Given the description of an element on the screen output the (x, y) to click on. 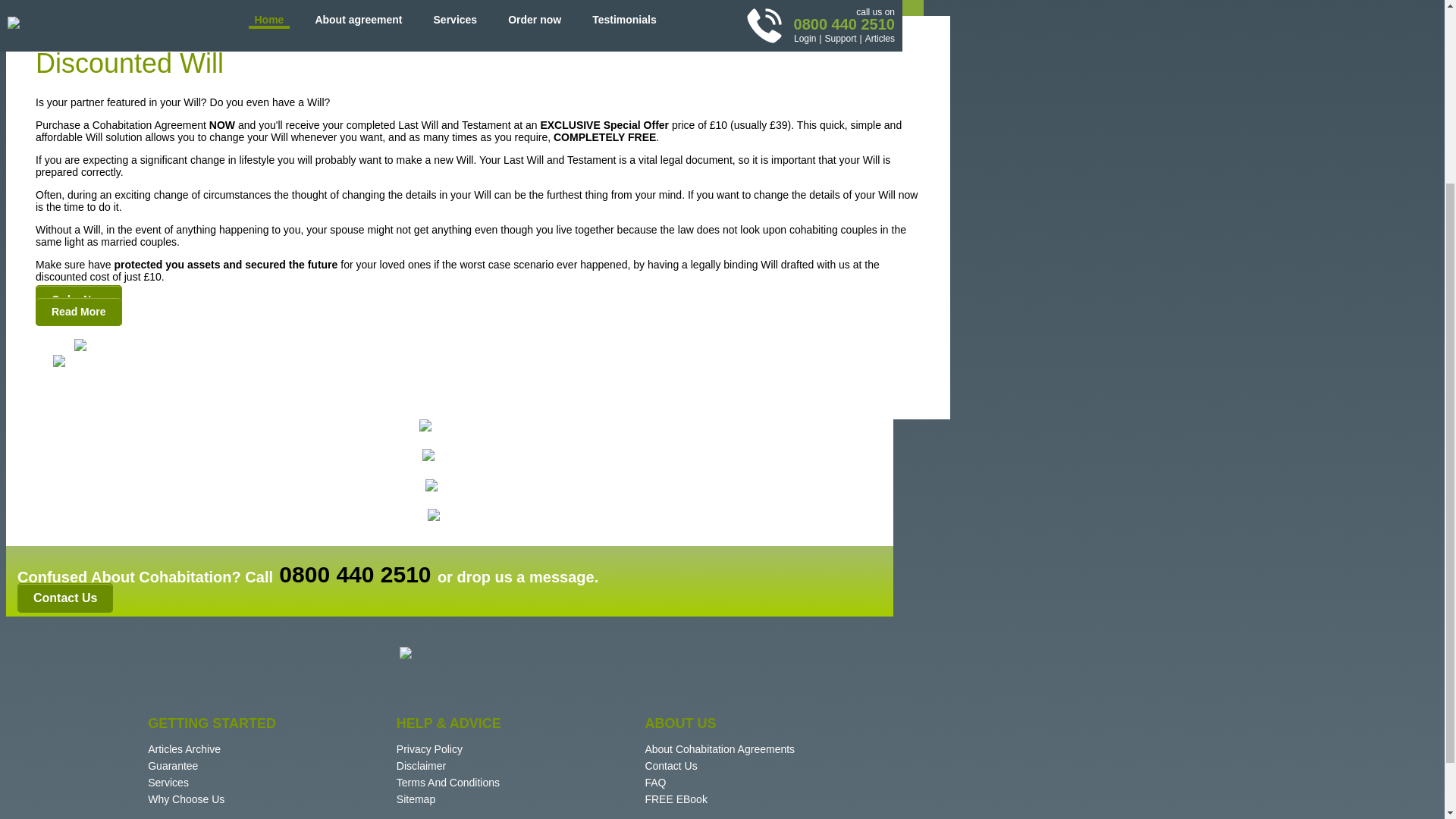
Order Now (78, 299)
Contact Us (65, 597)
About Cohabitation Agreements (719, 748)
Why Choose Us (186, 799)
FAQ (655, 782)
Guarantee (173, 766)
Articles Archive (184, 748)
Privacy Policy (429, 748)
Read More (78, 311)
Contact Us (671, 766)
